Given the description of an element on the screen output the (x, y) to click on. 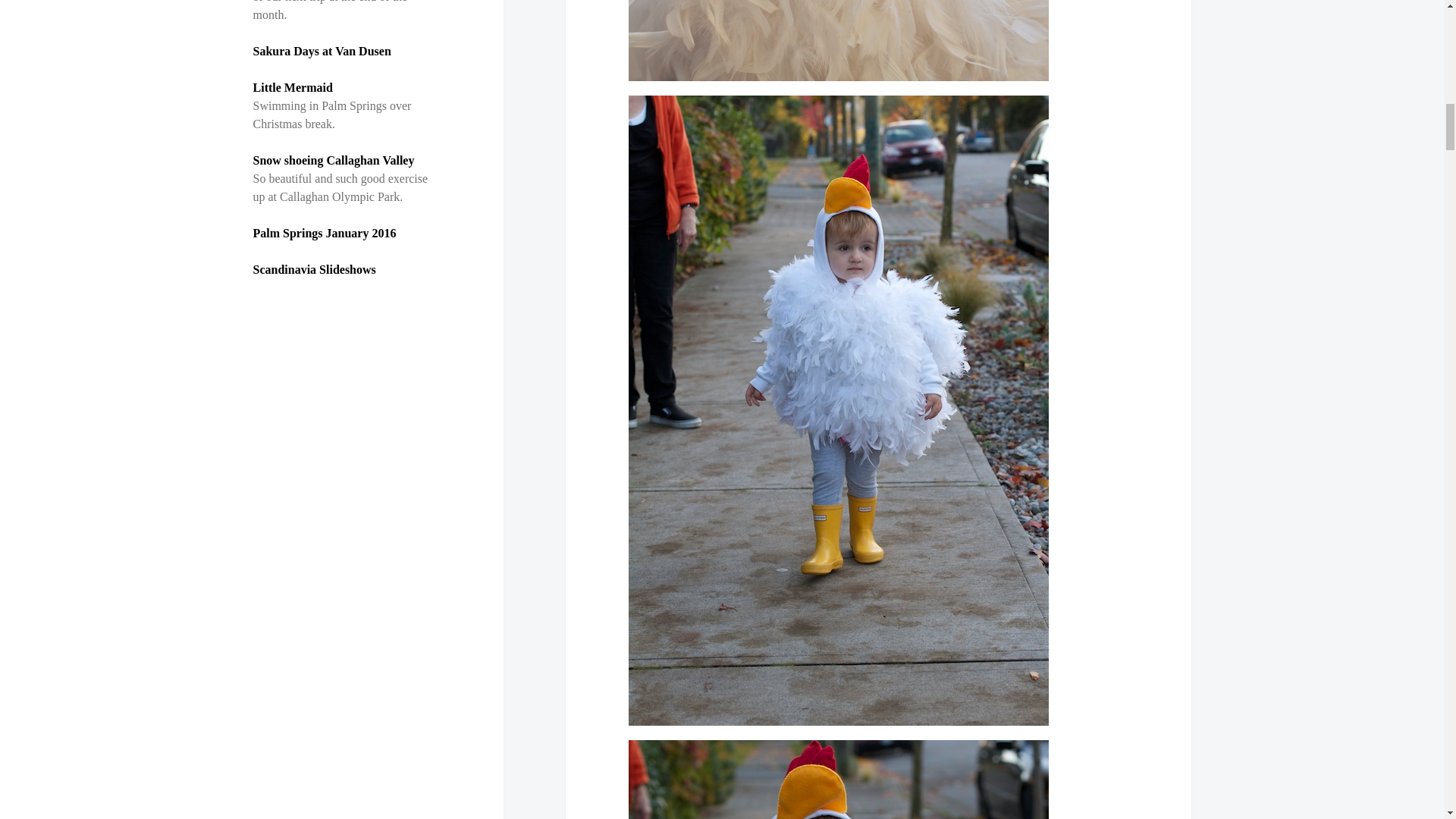
Snow shoeing Callaghan Valley  (335, 160)
Little Mermaid (293, 87)
Palm Springs January 2016 (324, 232)
Scandinavia Slideshows (314, 269)
Sakura Days at Van Dusen (322, 51)
